Given the description of an element on the screen output the (x, y) to click on. 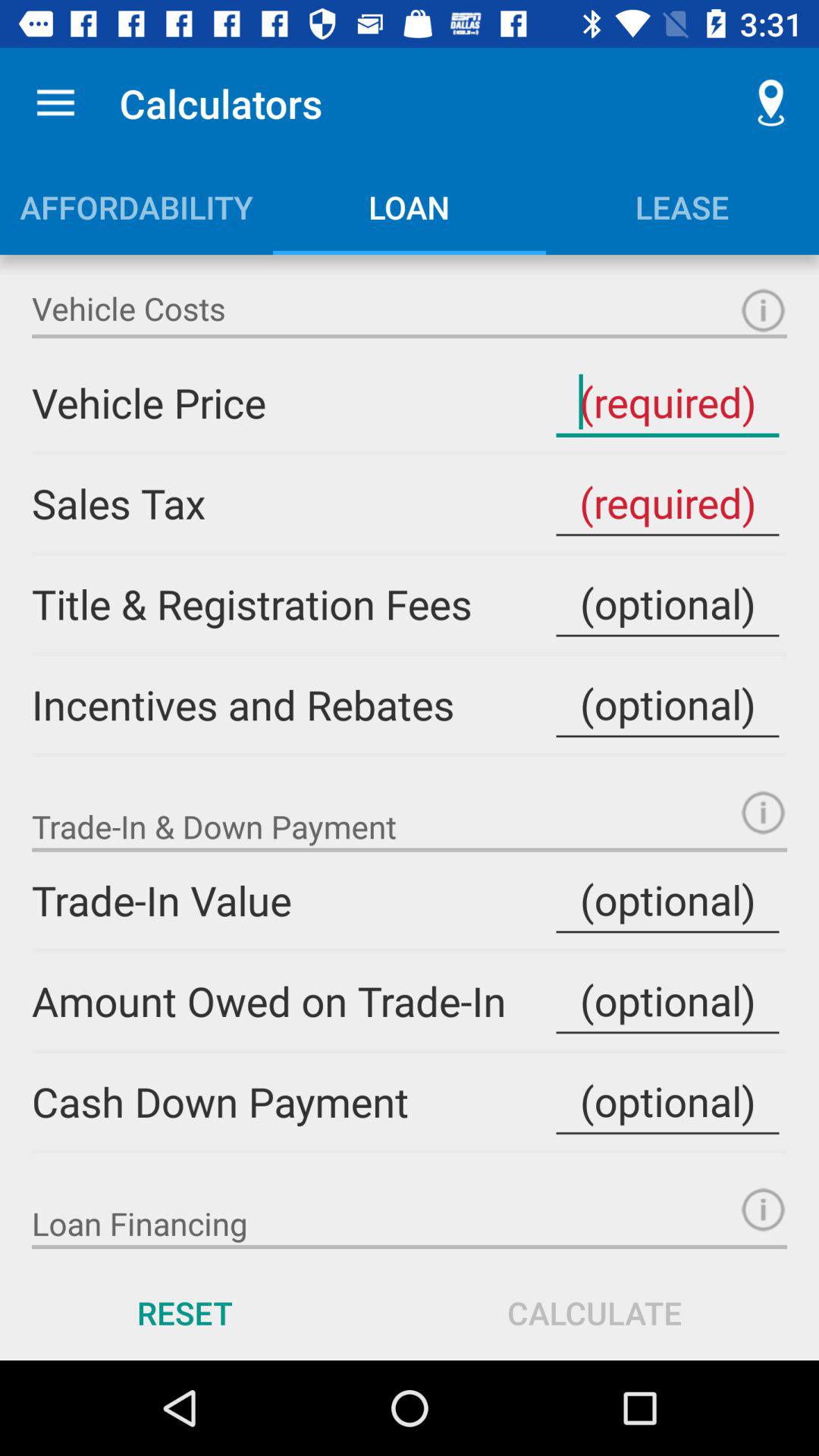
enter the value (667, 1000)
